Given the description of an element on the screen output the (x, y) to click on. 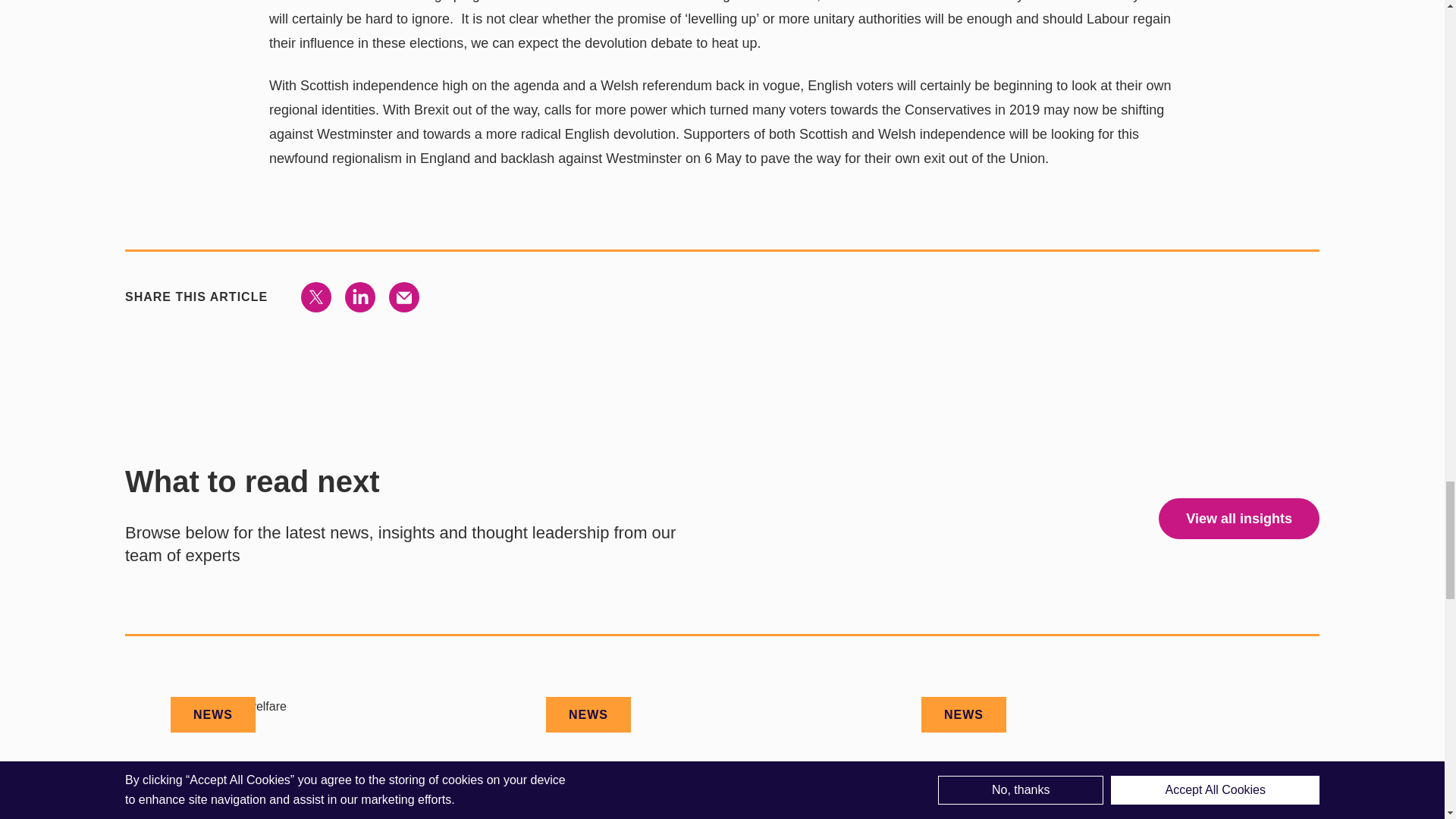
Share to X (316, 296)
Share to Email (403, 296)
Share to Linkedin (360, 296)
